Given the description of an element on the screen output the (x, y) to click on. 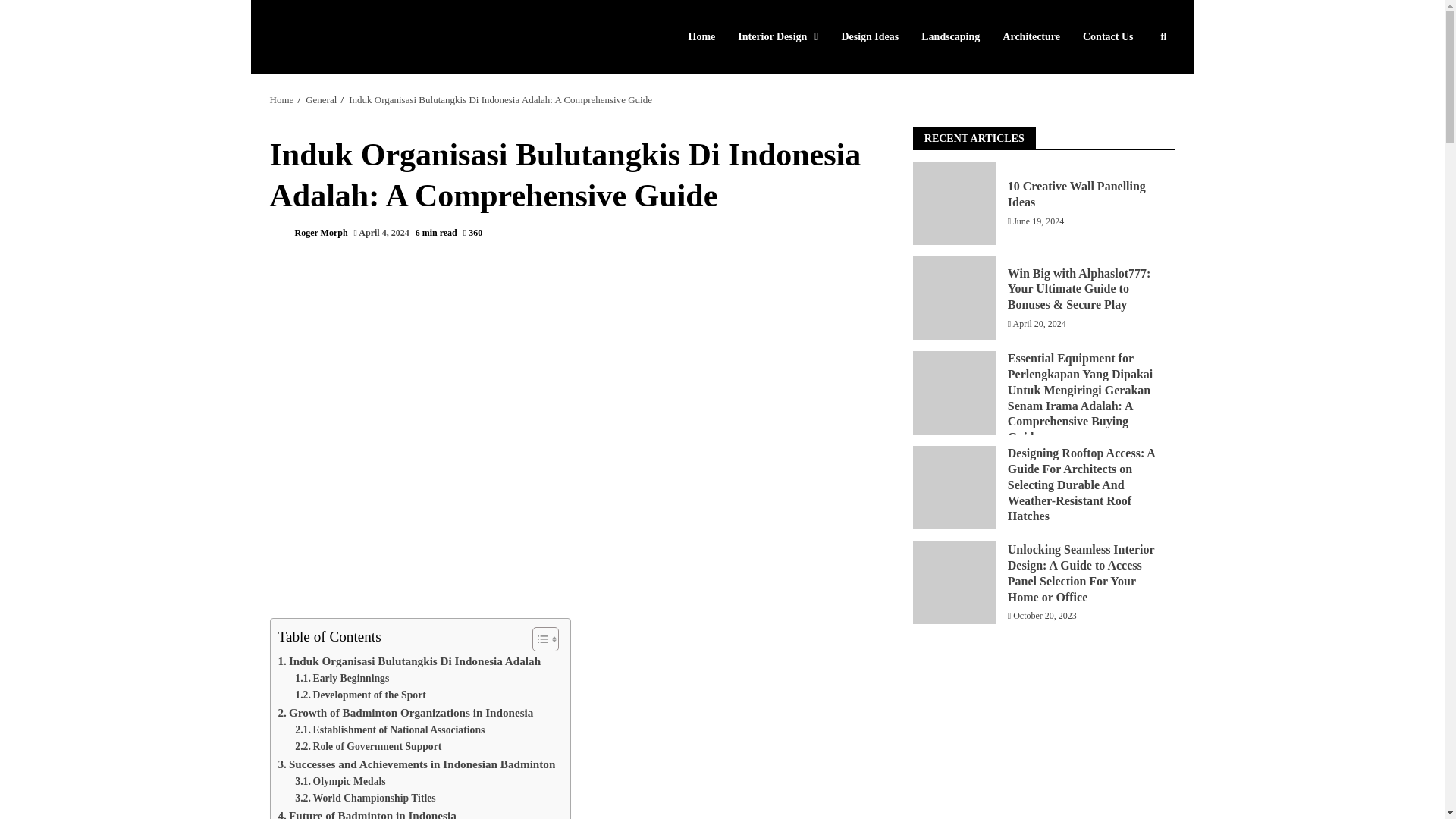
Establishment of National Associations (389, 729)
Landscaping (950, 36)
World Championship Titles (365, 798)
Growth of Badminton Organizations in Indonesia (405, 712)
Home (707, 36)
Development of the Sport (360, 695)
Successes and Achievements in Indonesian Badminton (416, 764)
Olympic Medals (340, 781)
Interior Design (777, 36)
Design Ideas (869, 36)
Future of Badminton in Indonesia (366, 812)
Role of Government Support (368, 746)
Establishment of National Associations (389, 729)
Induk Organisasi Bulutangkis Di Indonesia Adalah (409, 660)
